Given the description of an element on the screen output the (x, y) to click on. 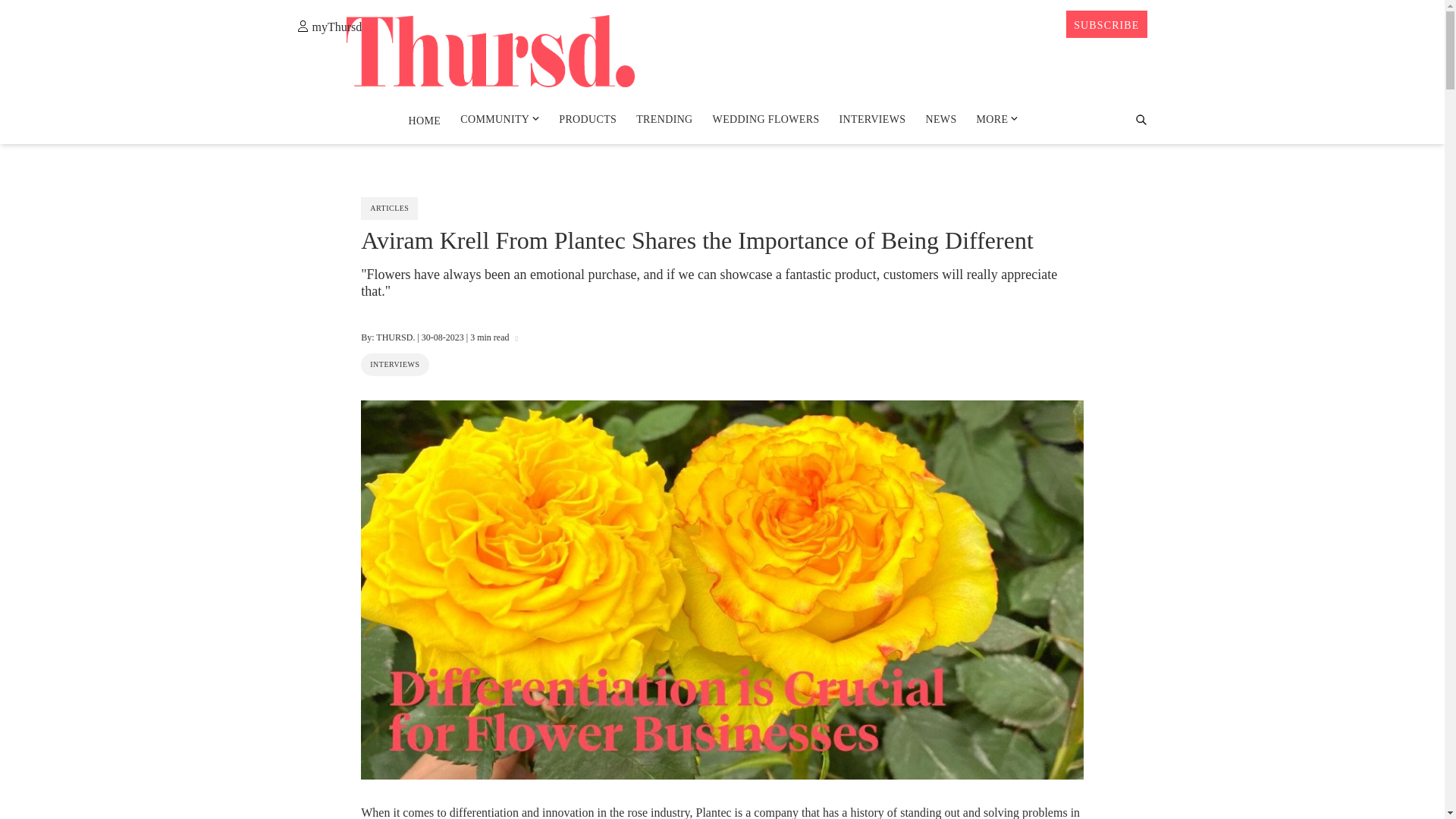
myThursd (329, 25)
SUBSCRIBE (1106, 23)
